Given the description of an element on the screen output the (x, y) to click on. 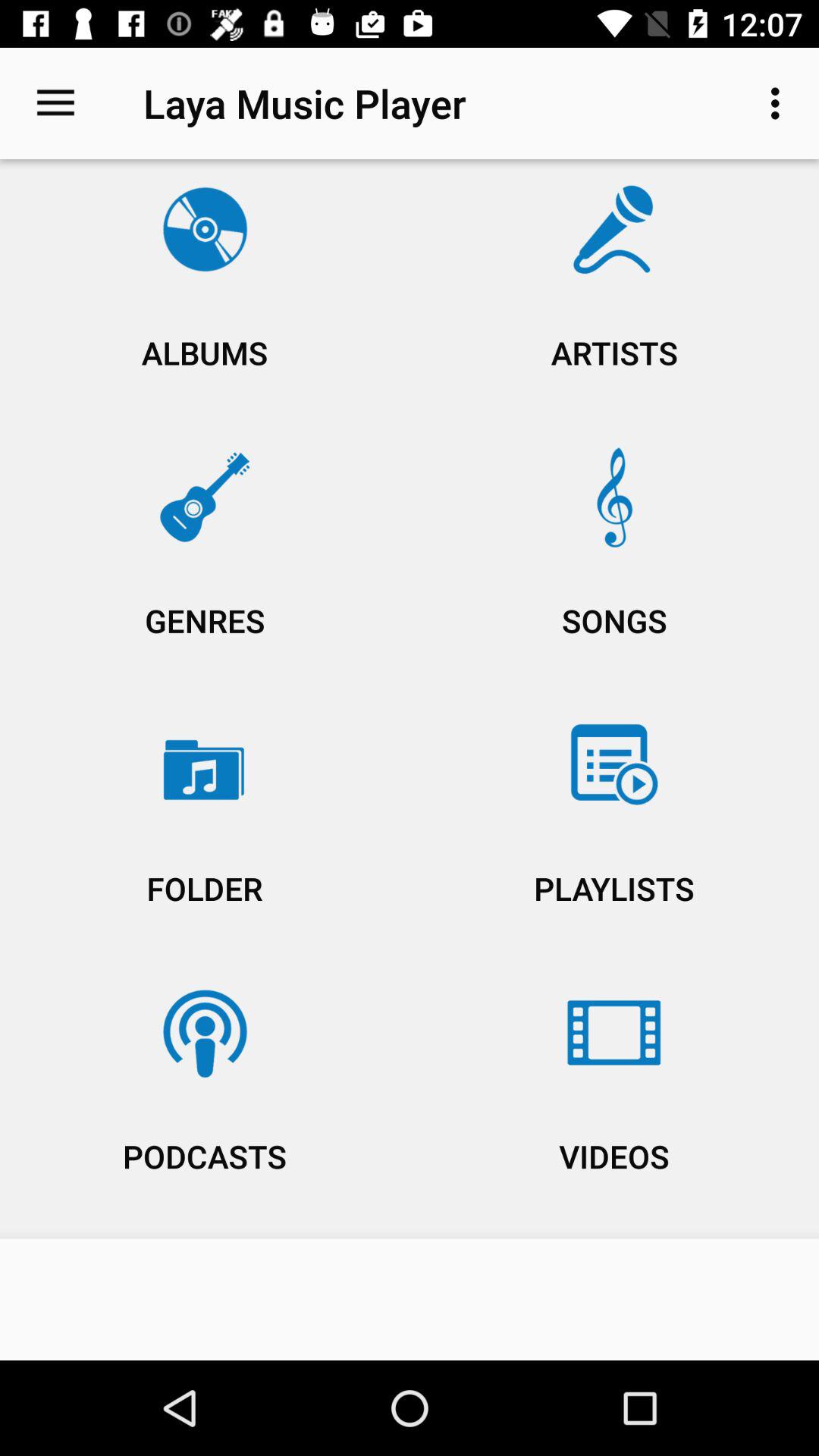
open the folder item (204, 832)
